Given the description of an element on the screen output the (x, y) to click on. 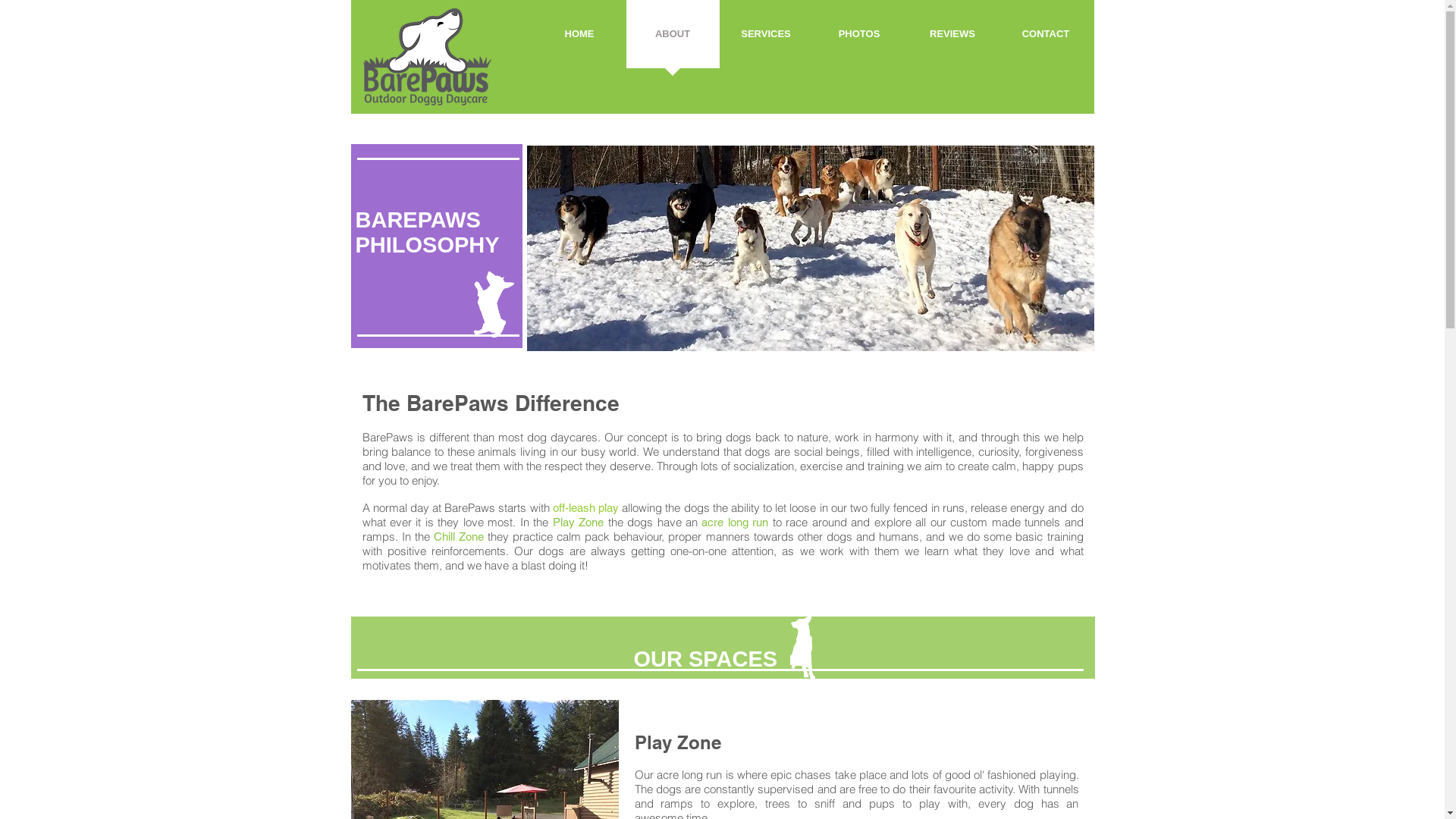
REVIEWS Element type: text (951, 39)
SERVICES Element type: text (765, 39)
ABOUT Element type: text (672, 39)
white_silhouette_6.gif Element type: hover (802, 647)
PHOTOS Element type: text (859, 39)
CONTACT Element type: text (1045, 39)
HOME Element type: text (578, 39)
white_silhouette.gif Element type: hover (493, 304)
